Given the description of an element on the screen output the (x, y) to click on. 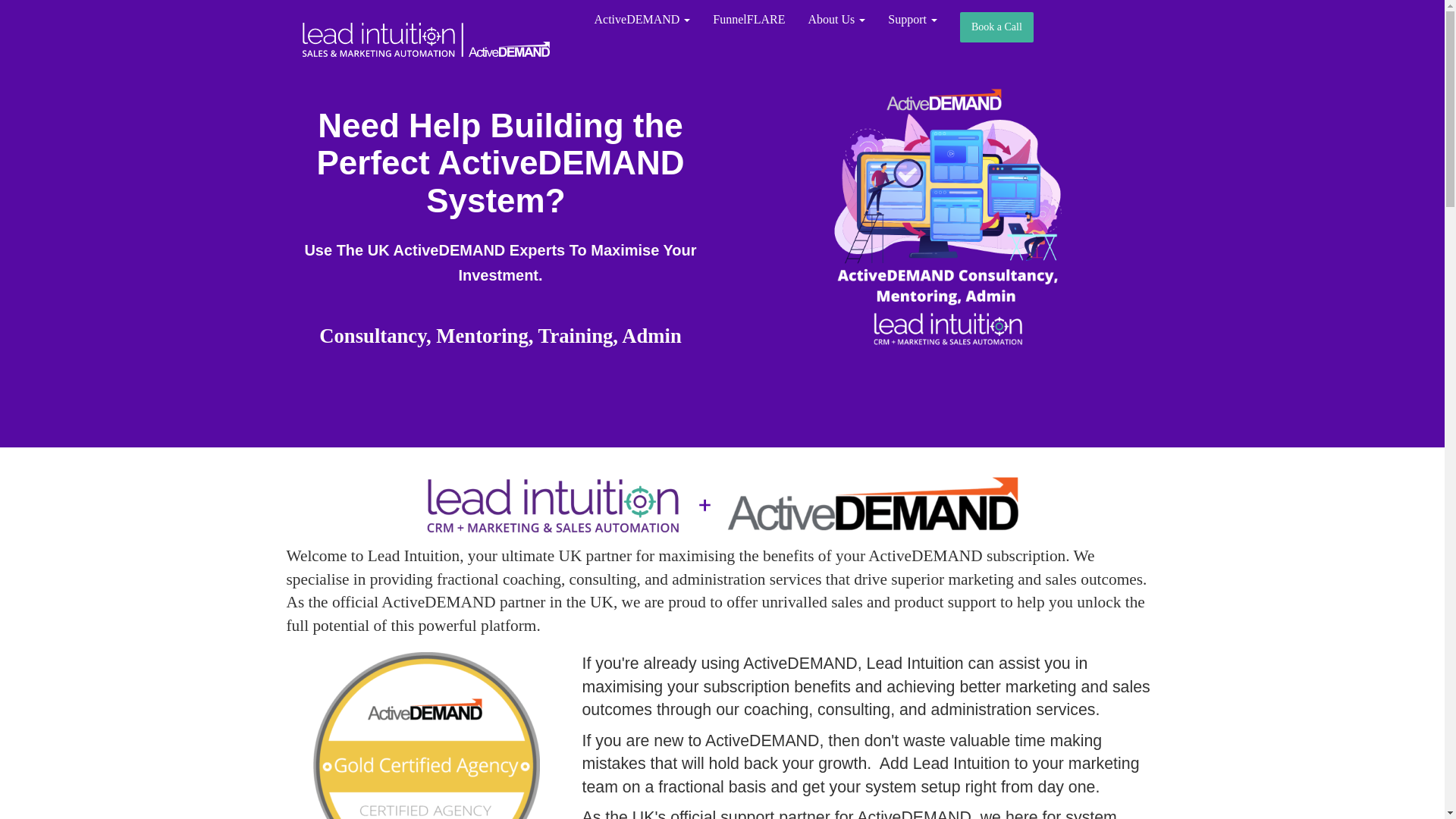
ActiveDEMAND (641, 19)
FunnelFLARE Sales Enablement Software (748, 19)
About Lead Intuition (836, 19)
Book a Call (997, 27)
Support (912, 19)
About Us (836, 19)
Book a Call (996, 27)
ActiveDEMAND (641, 19)
FunnelFLARE (748, 19)
Book a Call (997, 27)
